Given the description of an element on the screen output the (x, y) to click on. 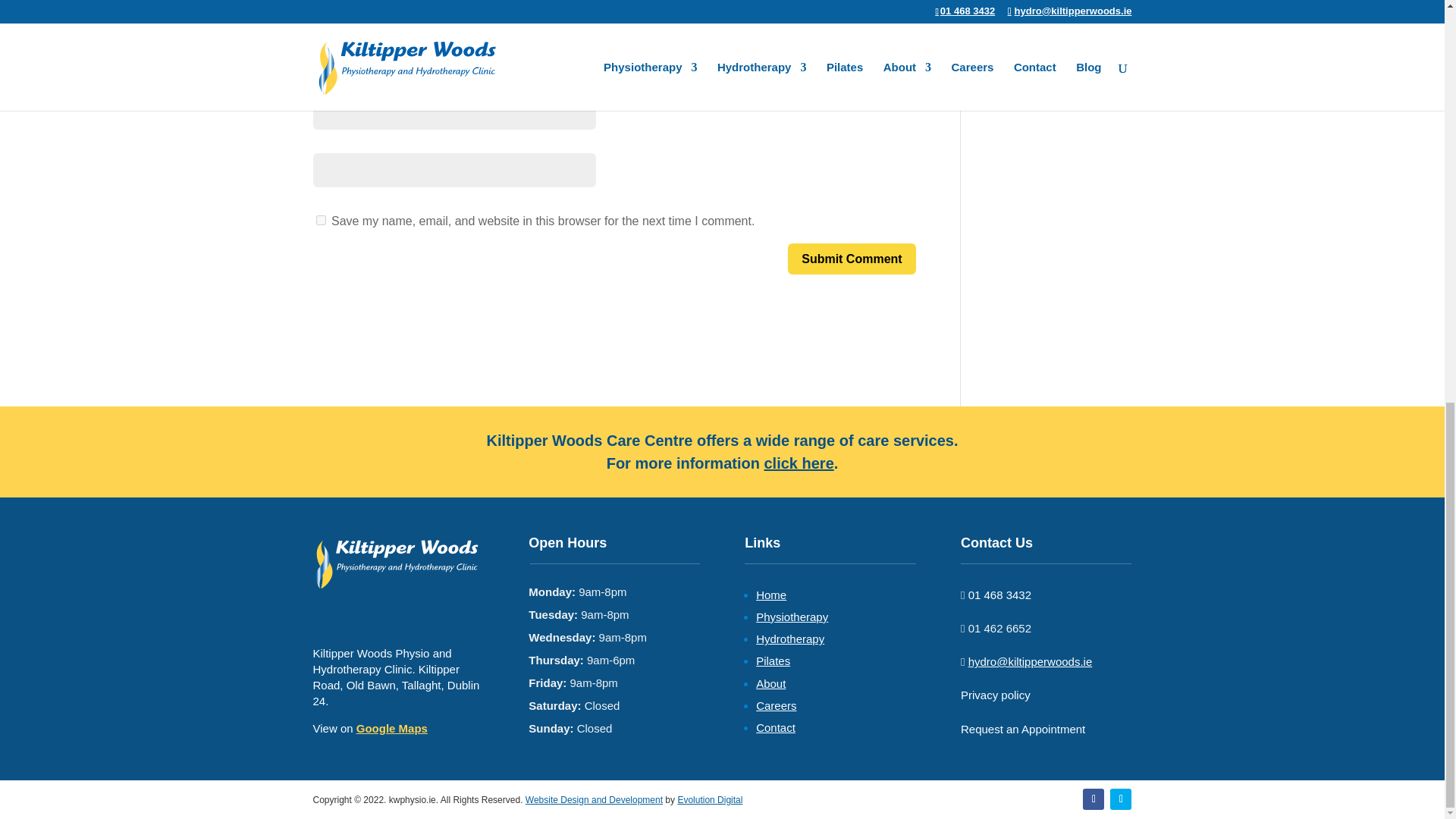
Follow on Facebook (1093, 798)
Submit Comment (851, 258)
Kiltipper Woods Physiotherapy  (398, 563)
Follow on Twitter (1120, 798)
yes (319, 220)
